Given the description of an element on the screen output the (x, y) to click on. 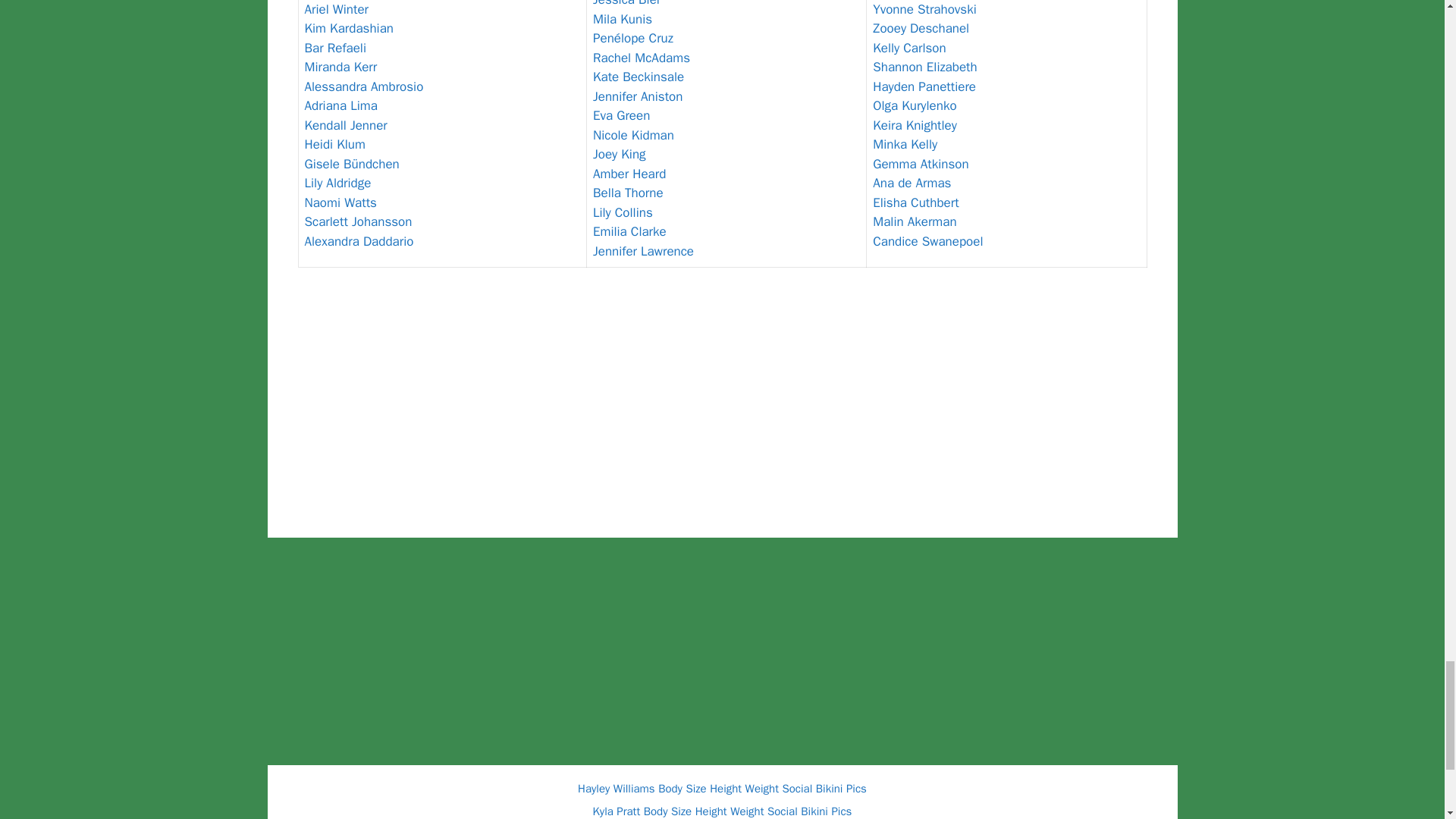
Kim Kardashian (348, 28)
Heidi Klum (334, 144)
Ariel Winter (336, 9)
Alessandra Ambrosio (363, 86)
Miranda Kerr (340, 66)
Bar Refaeli (335, 48)
Kendall Jenner (345, 125)
Adriana Lima (340, 105)
Lily Aldridge (337, 182)
